Given the description of an element on the screen output the (x, y) to click on. 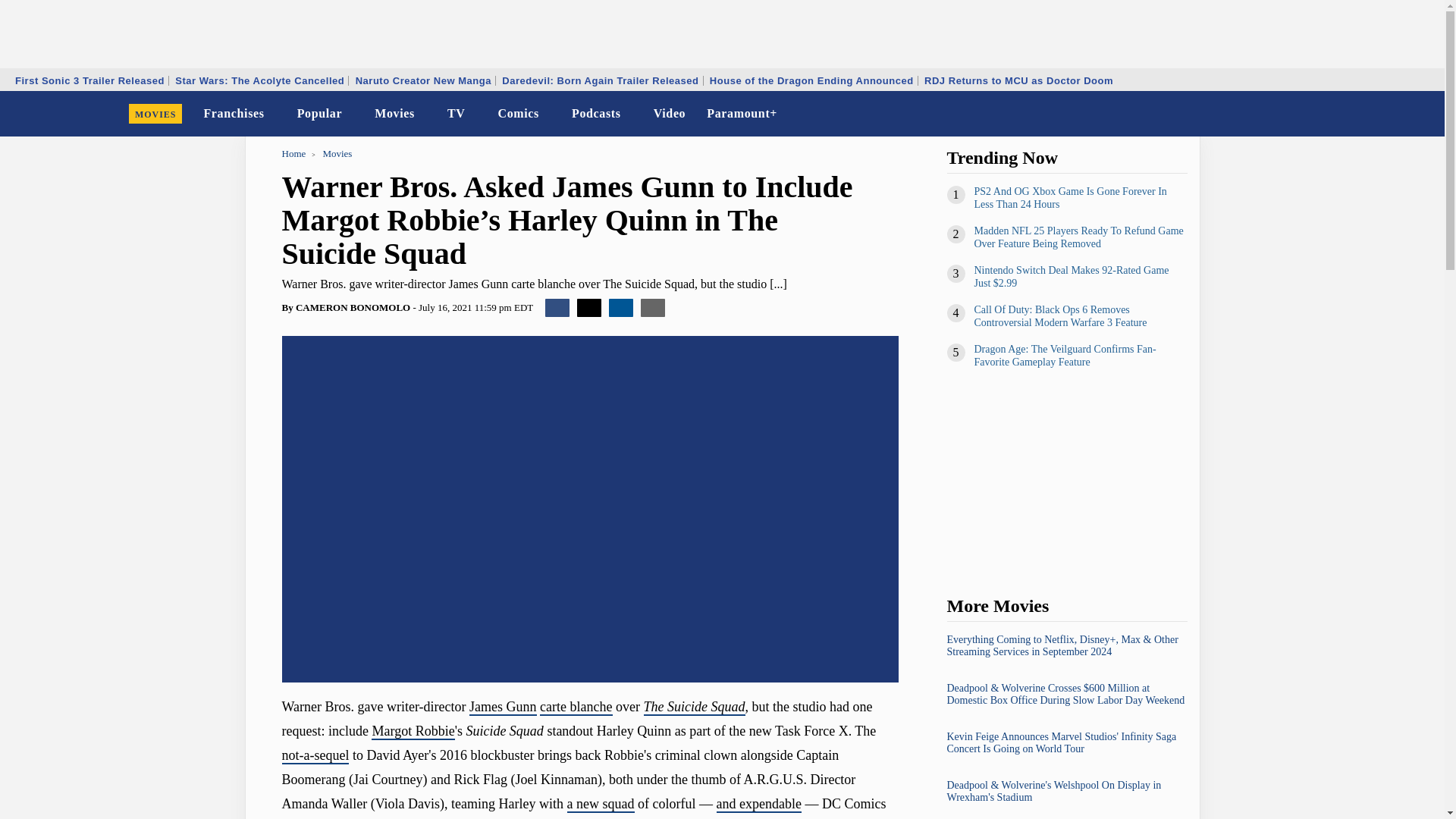
Star Wars: The Acolyte Cancelled (259, 80)
Dark Mode (1394, 113)
RDJ Returns to MCU as Doctor Doom (1018, 80)
House of the Dragon Ending Announced (811, 80)
First Sonic 3 Trailer Released (89, 80)
Naruto Creator New Manga (423, 80)
Movies (394, 113)
Daredevil: Born Again Trailer Released (599, 80)
MOVIES (155, 113)
Search (1422, 114)
